Given the description of an element on the screen output the (x, y) to click on. 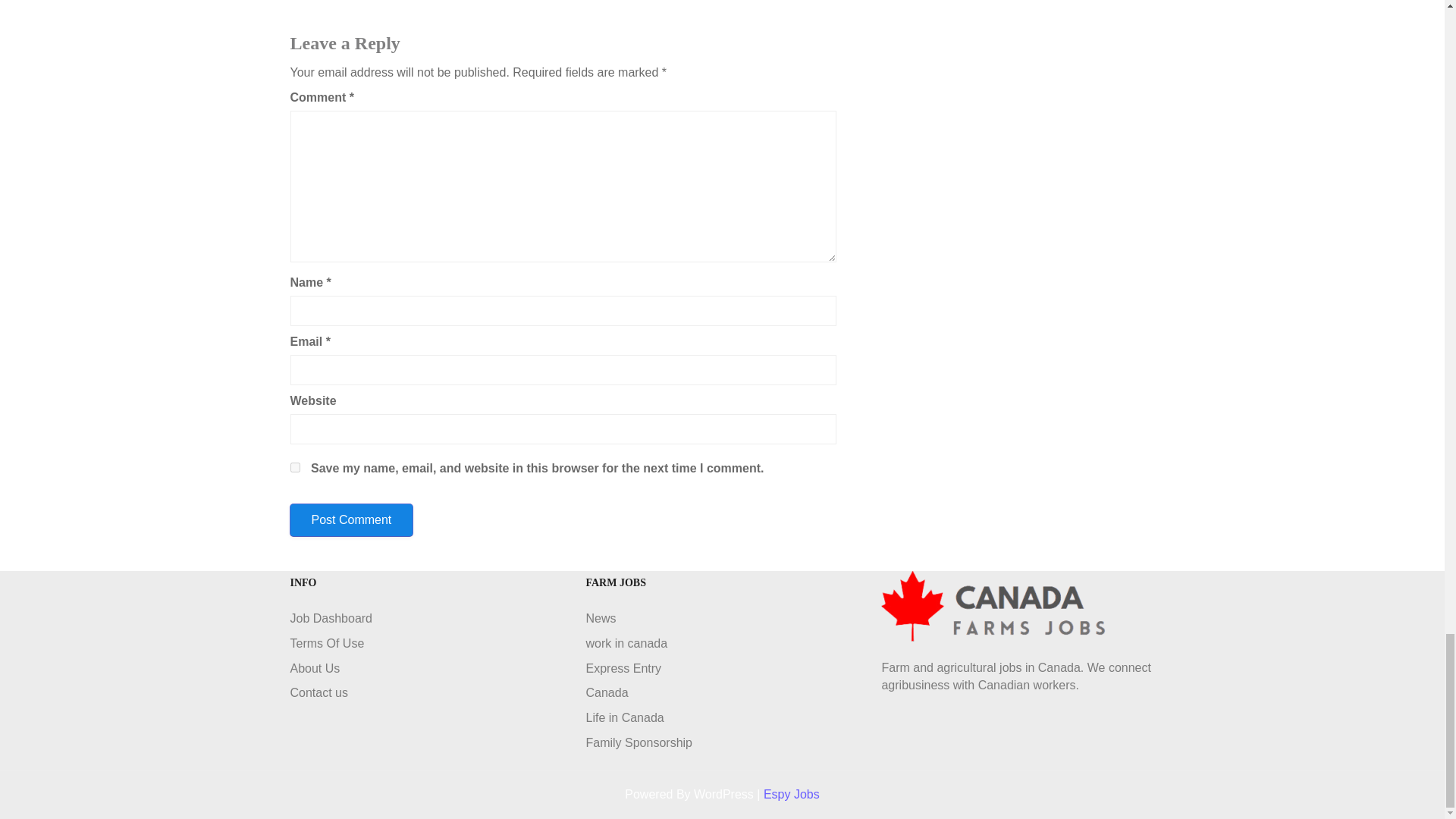
Post Comment (350, 520)
Post Comment (350, 520)
yes (294, 467)
